Given the description of an element on the screen output the (x, y) to click on. 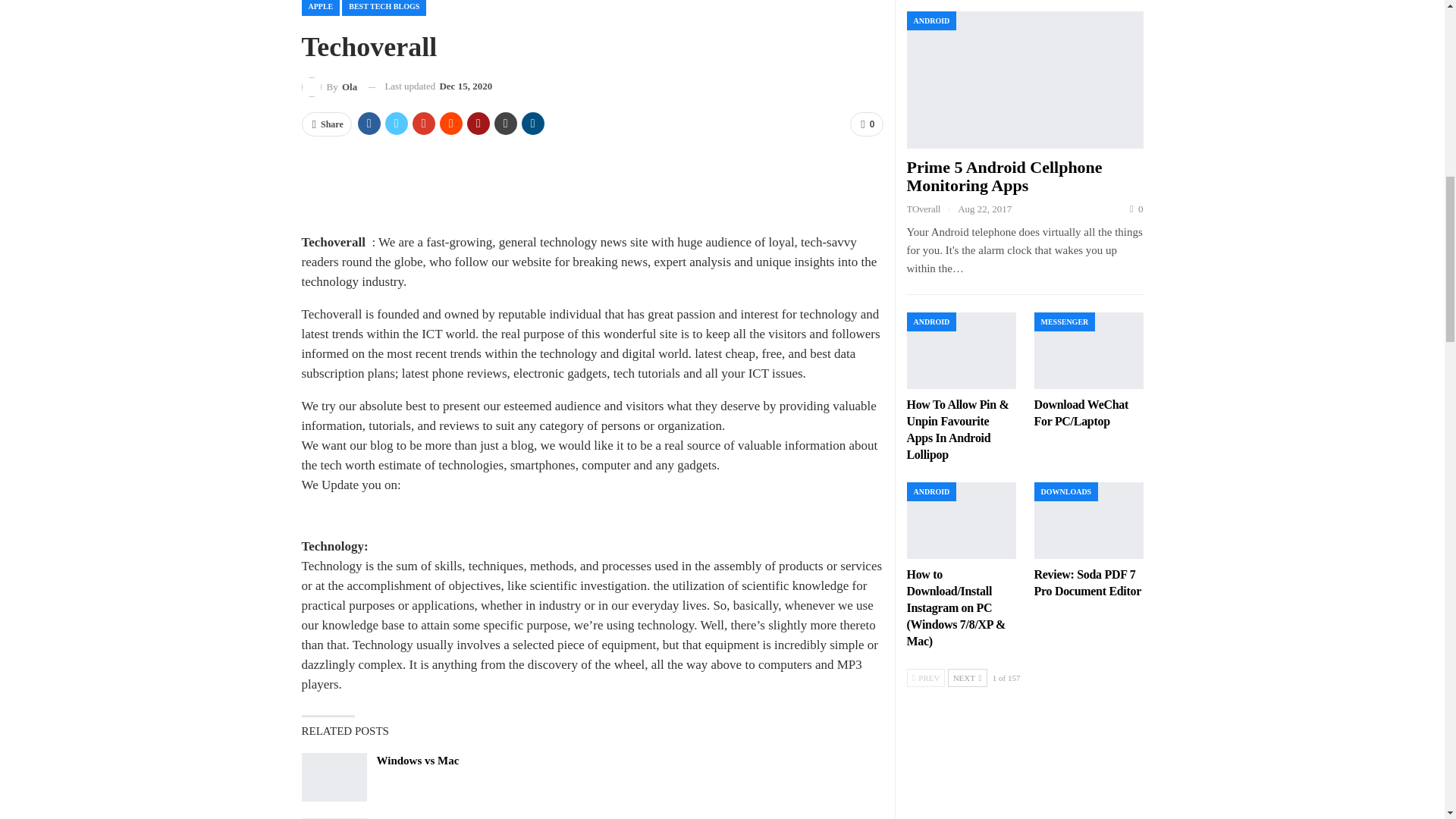
iPad Pro (333, 818)
Advertisement (591, 183)
BEST TECH BLOGS (384, 7)
APPLE (320, 7)
Browse Author Articles (329, 86)
Windows vs Mac (333, 776)
